Given the description of an element on the screen output the (x, y) to click on. 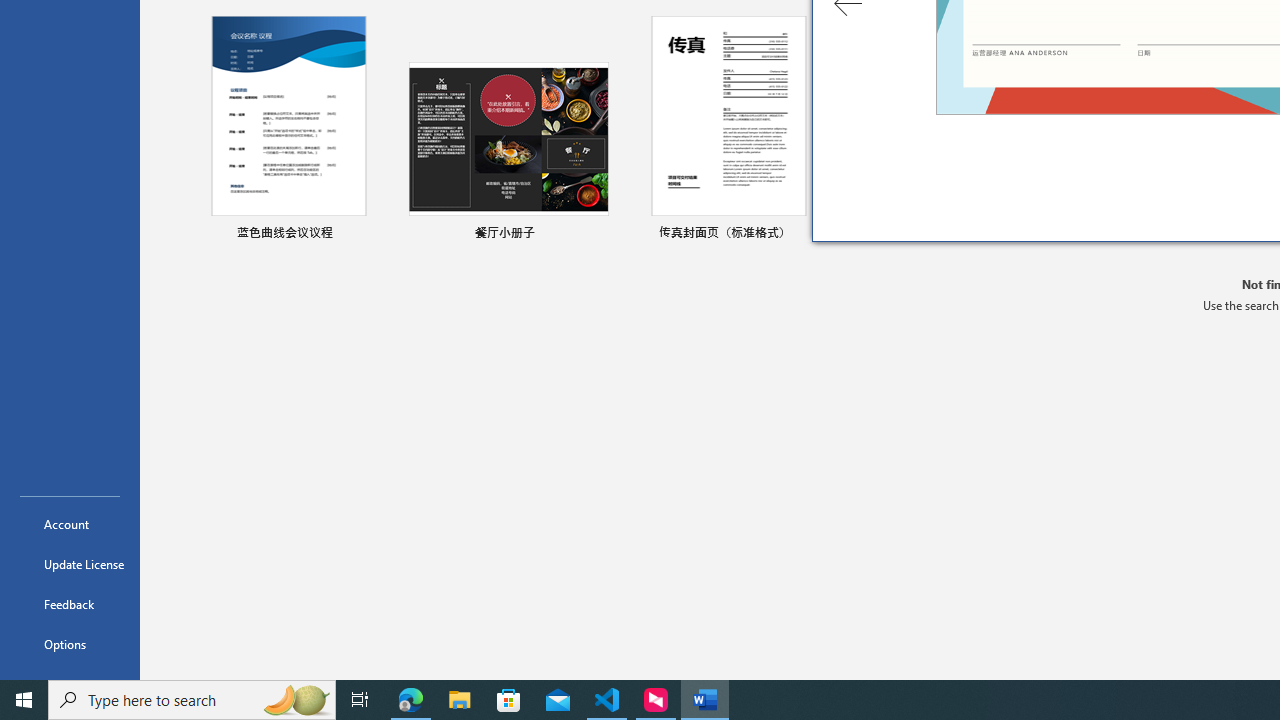
Start (24, 699)
Visual Studio Code - 1 running window (607, 699)
Search highlights icon opens search home window (295, 699)
Type here to search (191, 699)
File Explorer (460, 699)
Account (69, 523)
Update License (69, 563)
Feedback (69, 603)
Microsoft Store (509, 699)
Task View (359, 699)
Word - 1 running window (704, 699)
